Given the description of an element on the screen output the (x, y) to click on. 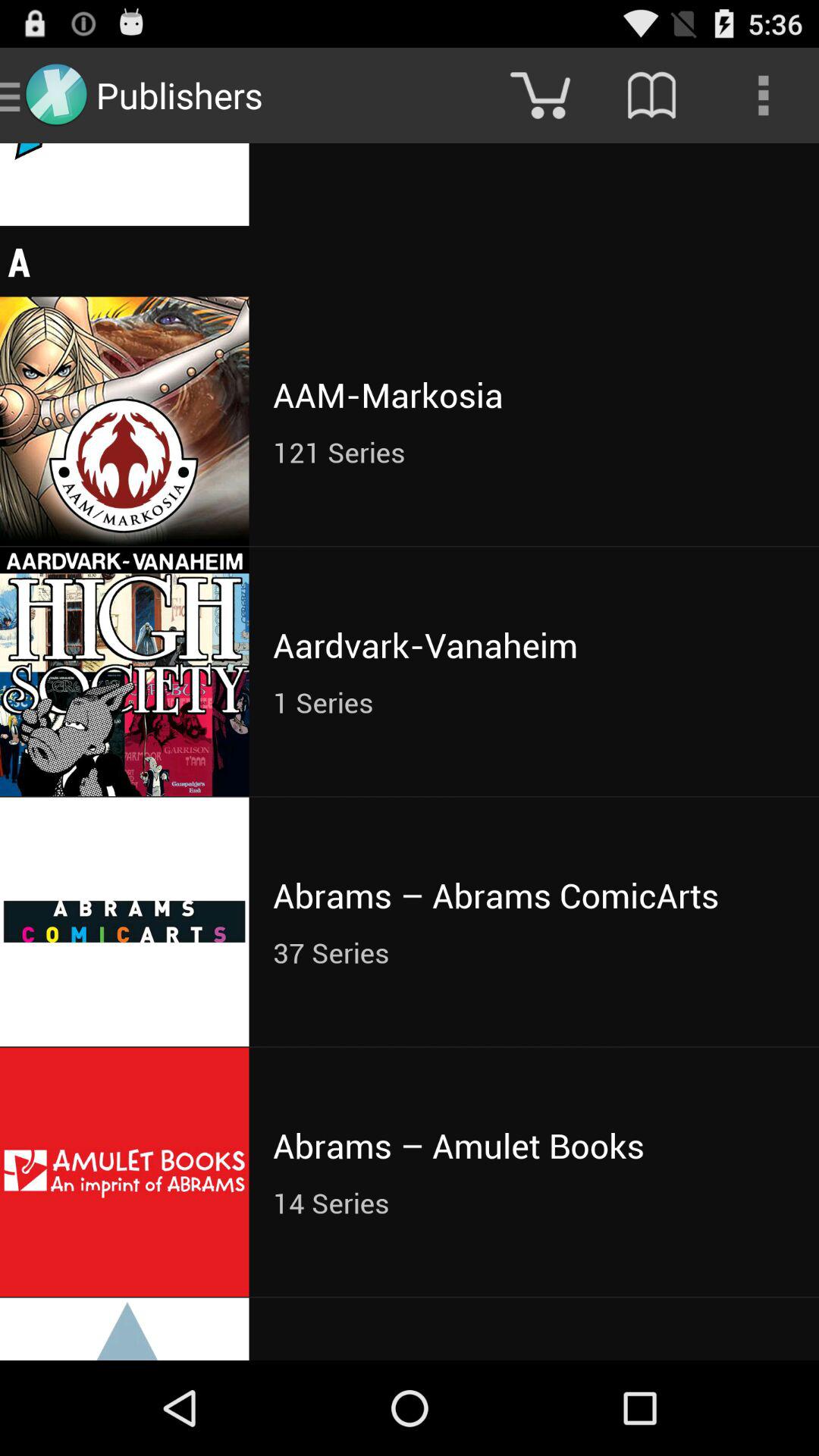
flip until 37 series icon (534, 952)
